Given the description of an element on the screen output the (x, y) to click on. 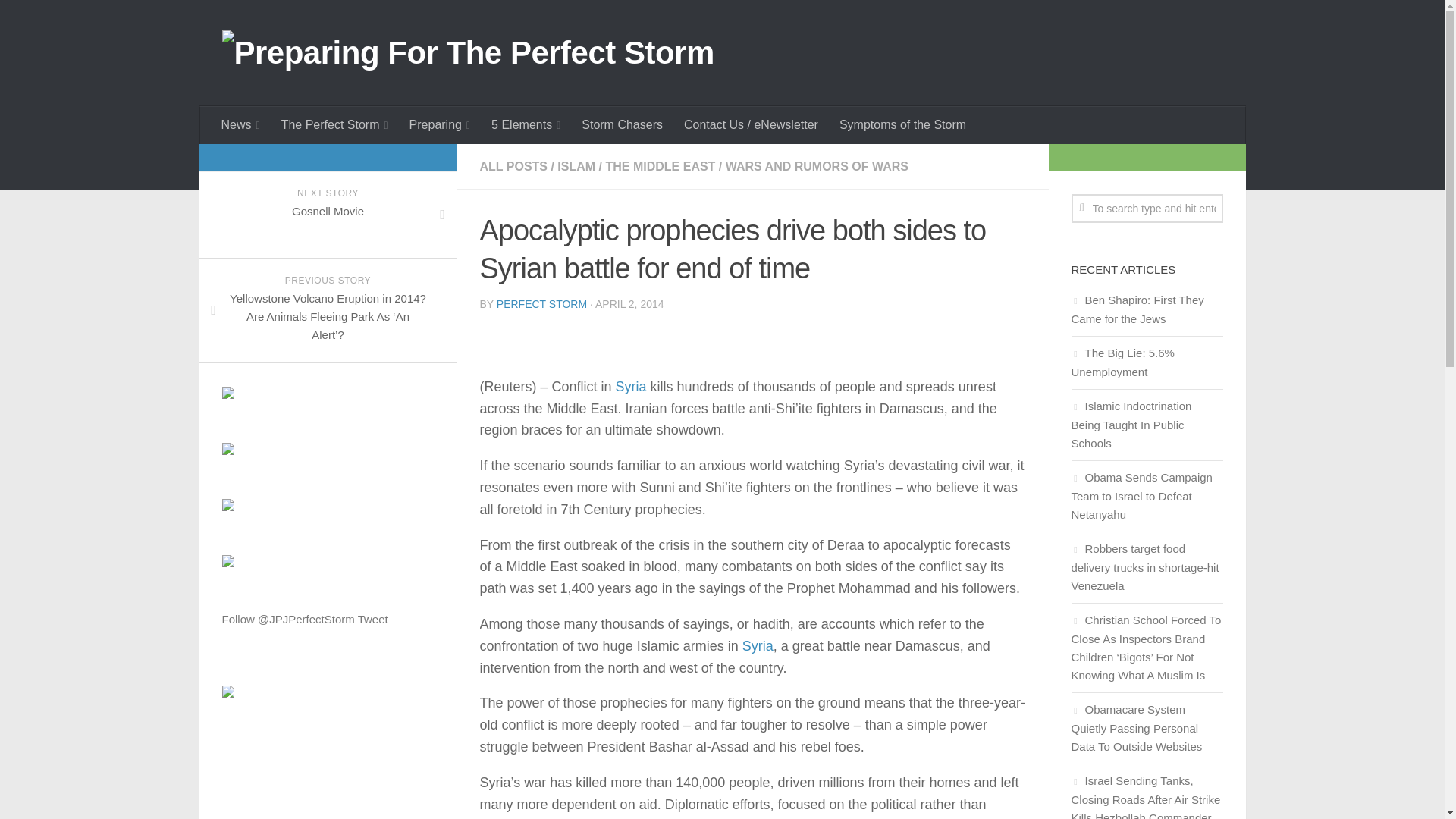
Posts by Perfect Storm (541, 304)
5 Elements (525, 125)
Preparing (439, 125)
The Perfect Storm (334, 125)
Preparing for the Perfect Storm.com (226, 693)
To search type and hit enter (1146, 208)
News (240, 125)
